Given the description of an element on the screen output the (x, y) to click on. 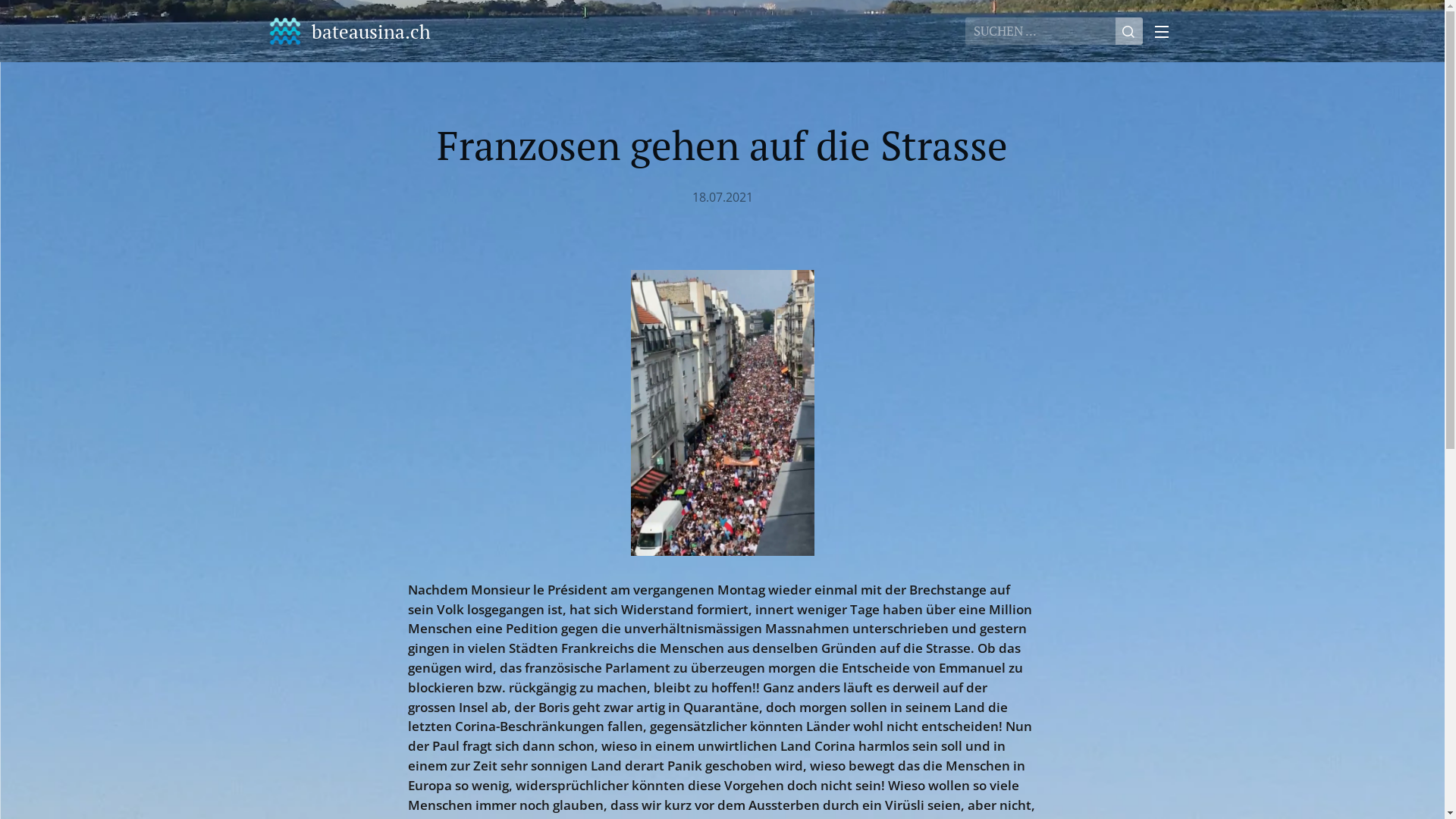
bateausina.ch Element type: text (349, 30)
